Given the description of an element on the screen output the (x, y) to click on. 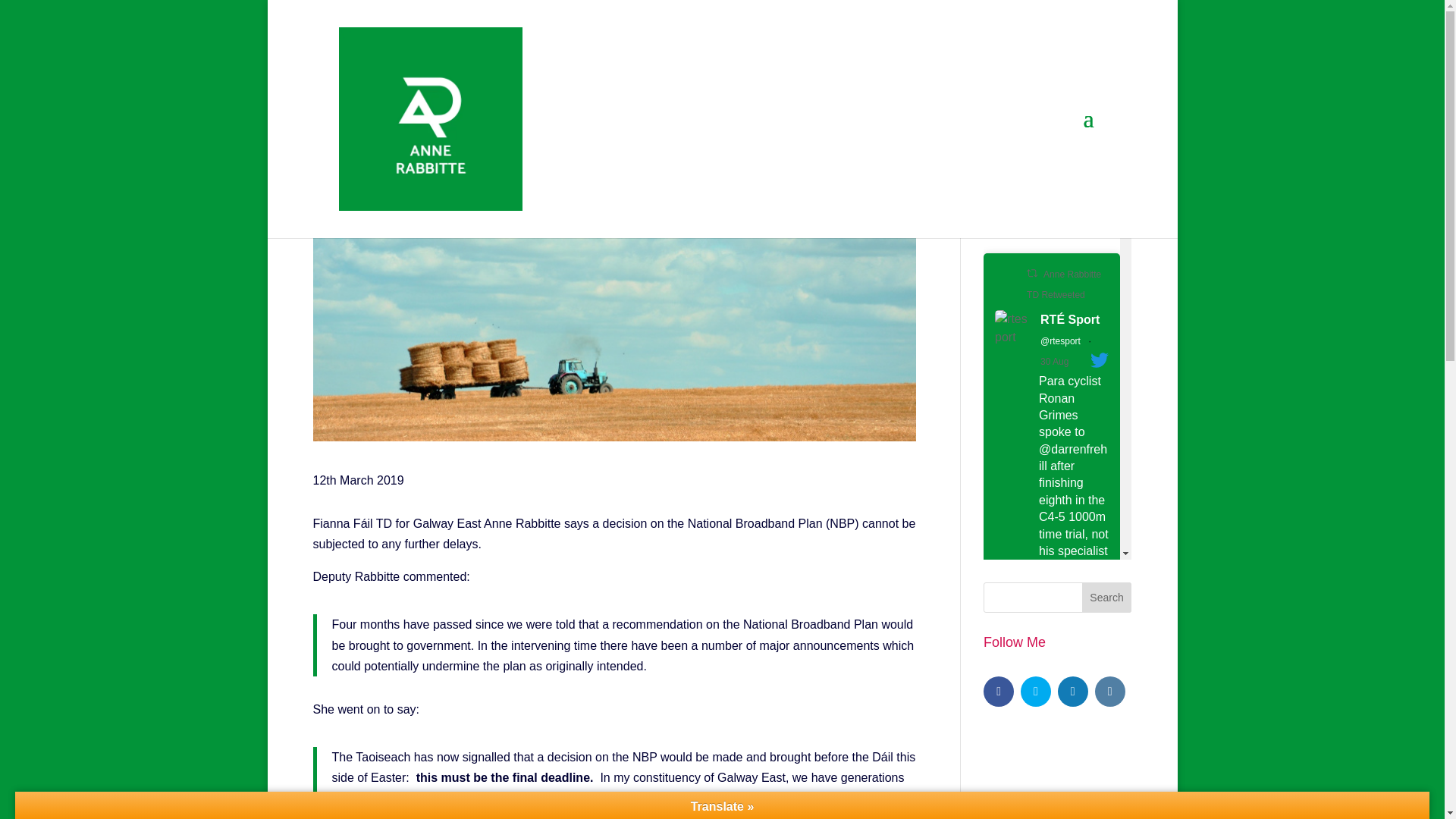
Deputy Anne Rabbitte (377, 167)
Broadband Black Spots (566, 167)
Search (1106, 597)
Reply on Twitter 1829472122625724729 (1048, 817)
National Digital Strategy (599, 177)
Digital Infrastructure (1080, 817)
Posts by Deputy Anne Rabbitte (674, 167)
30 Aug (377, 167)
0 comments (1054, 361)
